Given the description of an element on the screen output the (x, y) to click on. 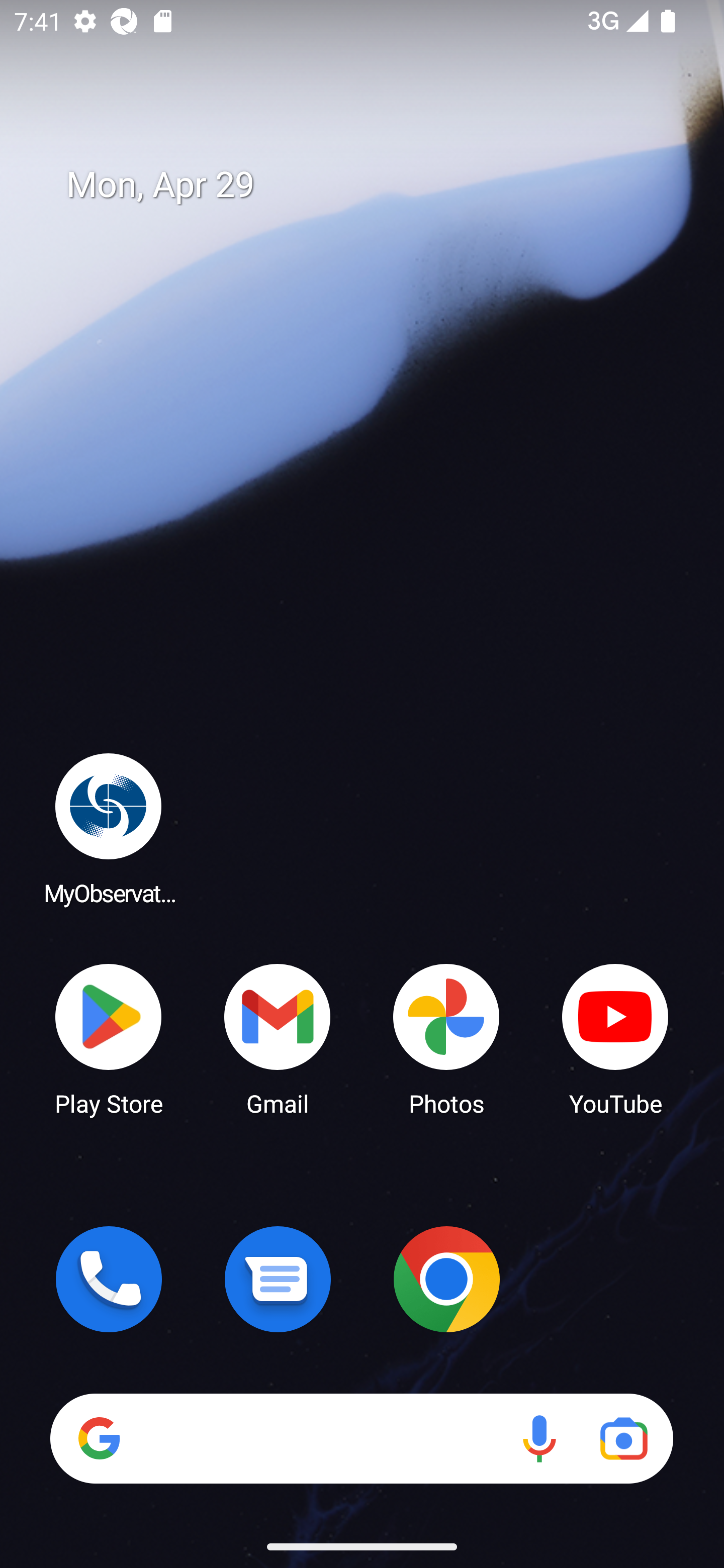
Mon, Apr 29 (375, 184)
MyObservatory (108, 828)
Play Store (108, 1038)
Gmail (277, 1038)
Photos (445, 1038)
YouTube (615, 1038)
Phone (108, 1279)
Messages (277, 1279)
Chrome (446, 1279)
Voice search (539, 1438)
Google Lens (623, 1438)
